Given the description of an element on the screen output the (x, y) to click on. 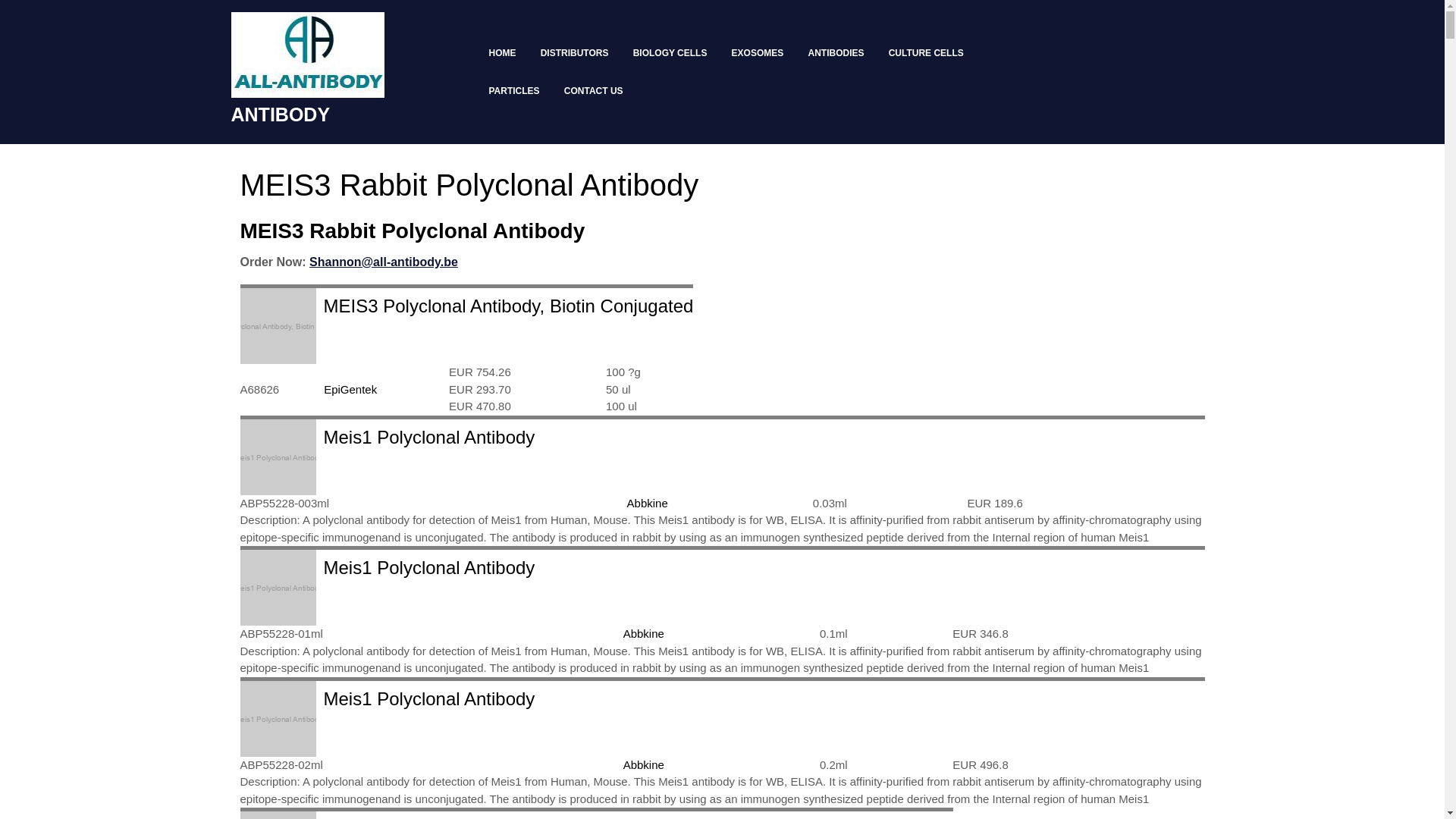
EpiGentek Element type: text (349, 388)
Shannon@all-antibody.be Element type: text (383, 261)
Abbkine Element type: text (643, 633)
CONTACT US Element type: text (596, 90)
ANTIBODIES Element type: text (838, 53)
PARTICLES Element type: text (516, 90)
EXOSOMES Element type: text (760, 53)
Abbkine Element type: text (647, 502)
DISTRIBUTORS Element type: text (577, 53)
ANTIBODY Element type: text (279, 114)
HOME Element type: text (504, 53)
CULTURE CELLS Element type: text (929, 53)
Abbkine Element type: text (643, 764)
BIOLOGY CELLS Element type: text (673, 53)
